Given the description of an element on the screen output the (x, y) to click on. 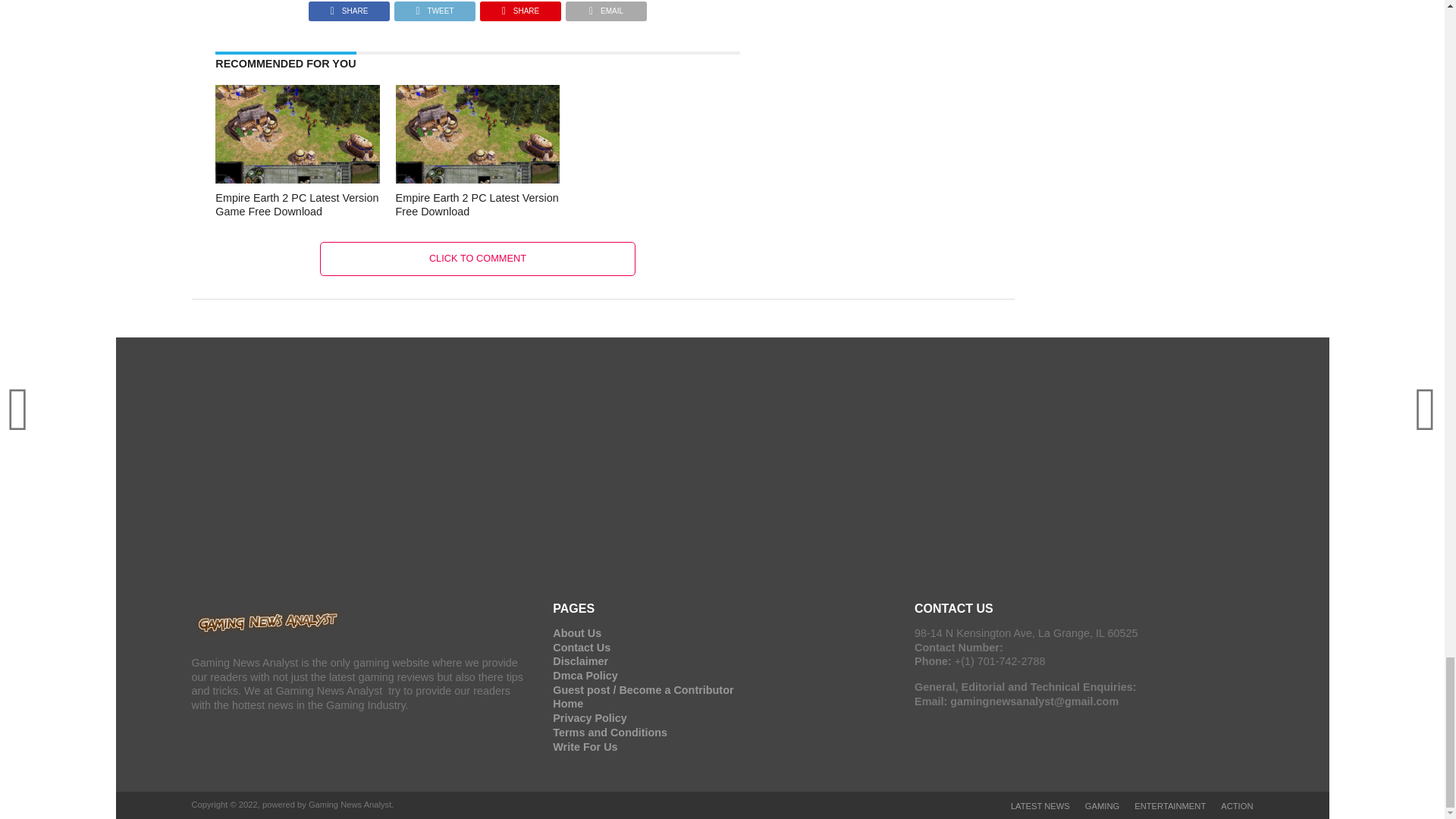
TWEET (434, 6)
Empire Earth 2 PC Latest Version Free Download (477, 204)
SHARE (349, 6)
SHARE (520, 6)
EMAIL (605, 6)
Empire Earth 2 PC Latest Version Game Free Download (296, 204)
